Given the description of an element on the screen output the (x, y) to click on. 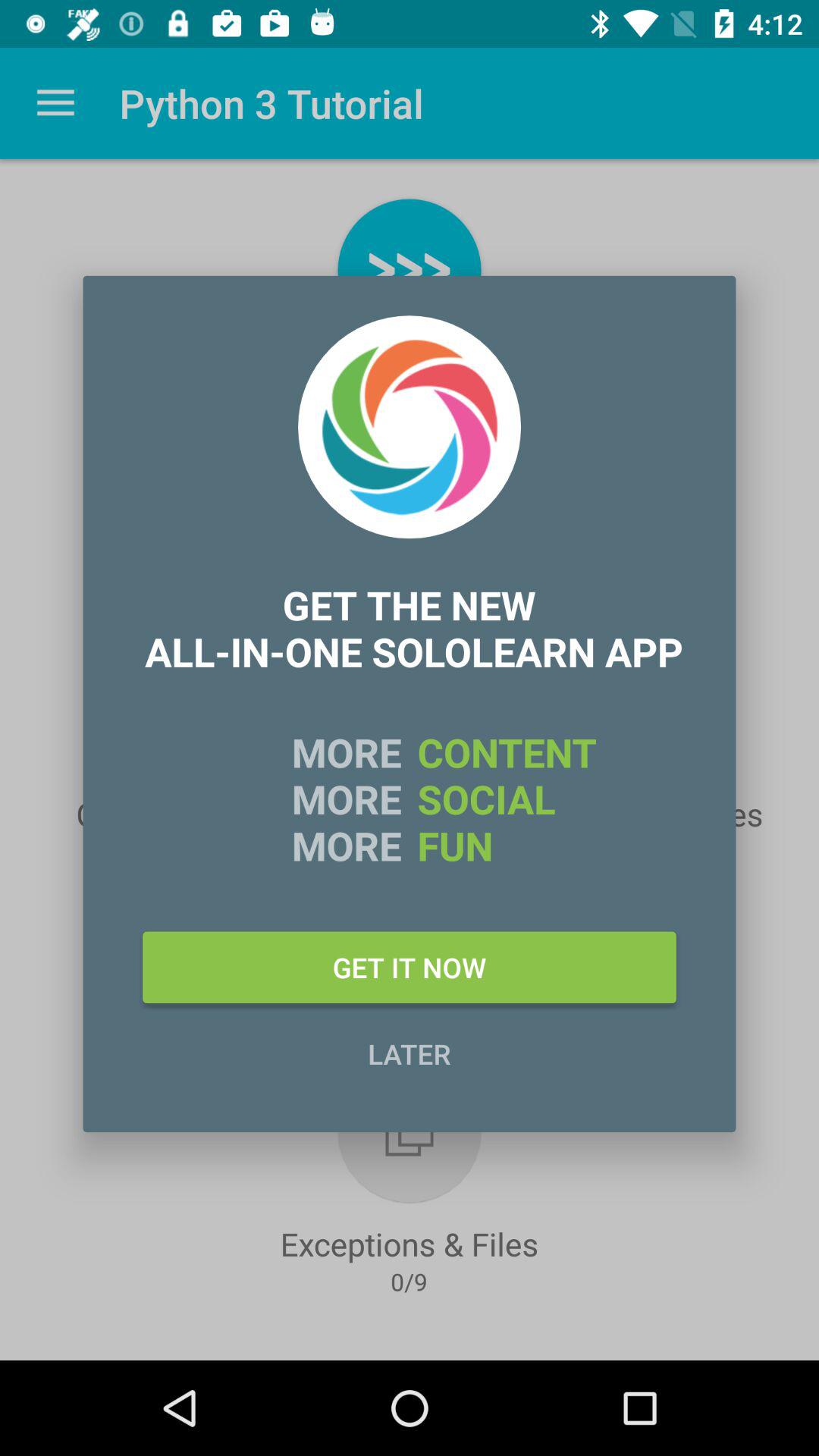
flip until the get it now item (409, 967)
